Given the description of an element on the screen output the (x, y) to click on. 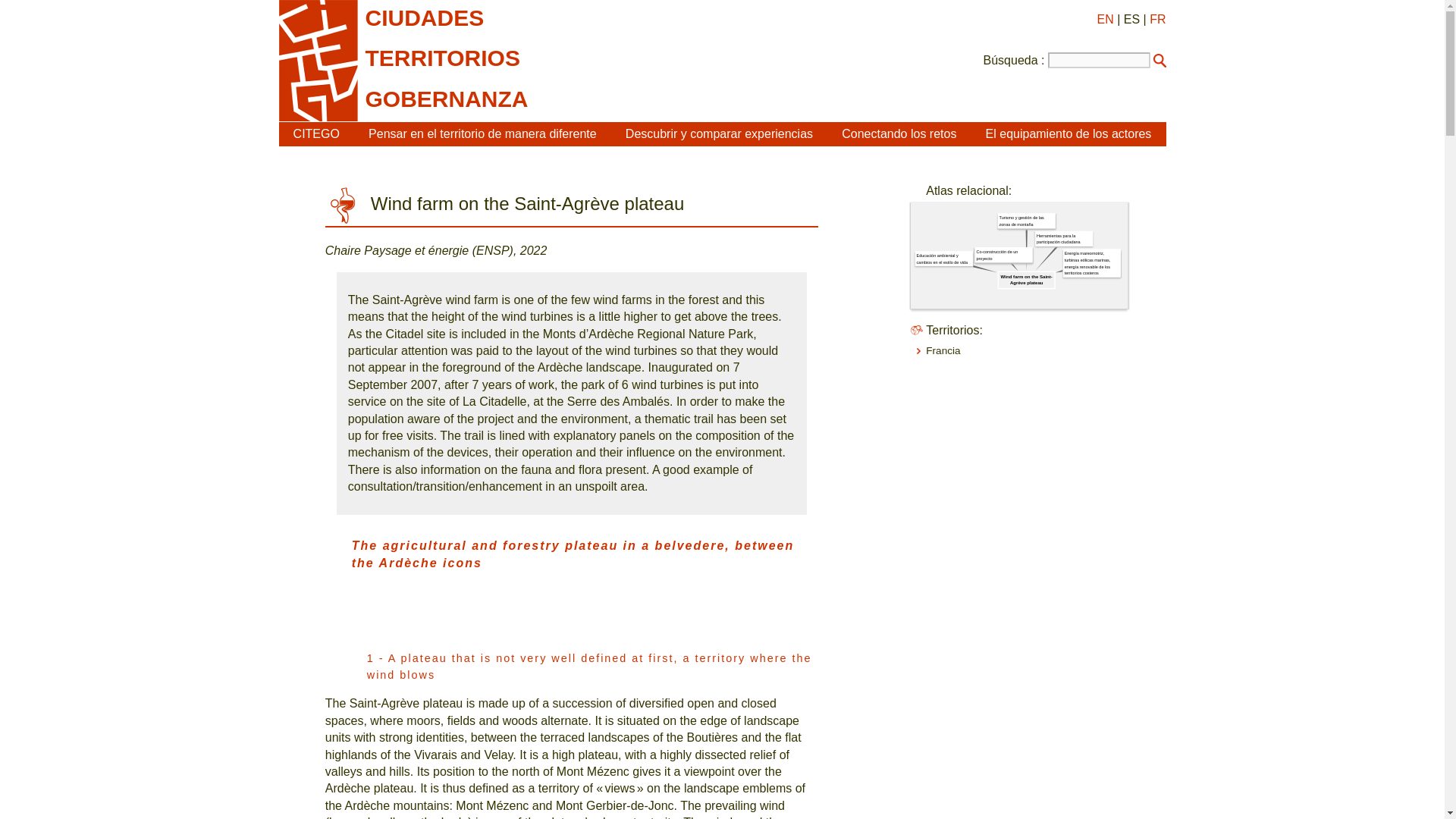
Pensar en el territorio de manera diferente (482, 133)
Descubrir y comparar experiencias (719, 133)
El equipamiento de los actores (1068, 133)
EN (1104, 19)
FR (1158, 19)
Conectando los retos (898, 133)
CITEGO (316, 133)
Francia (942, 350)
